Given the description of an element on the screen output the (x, y) to click on. 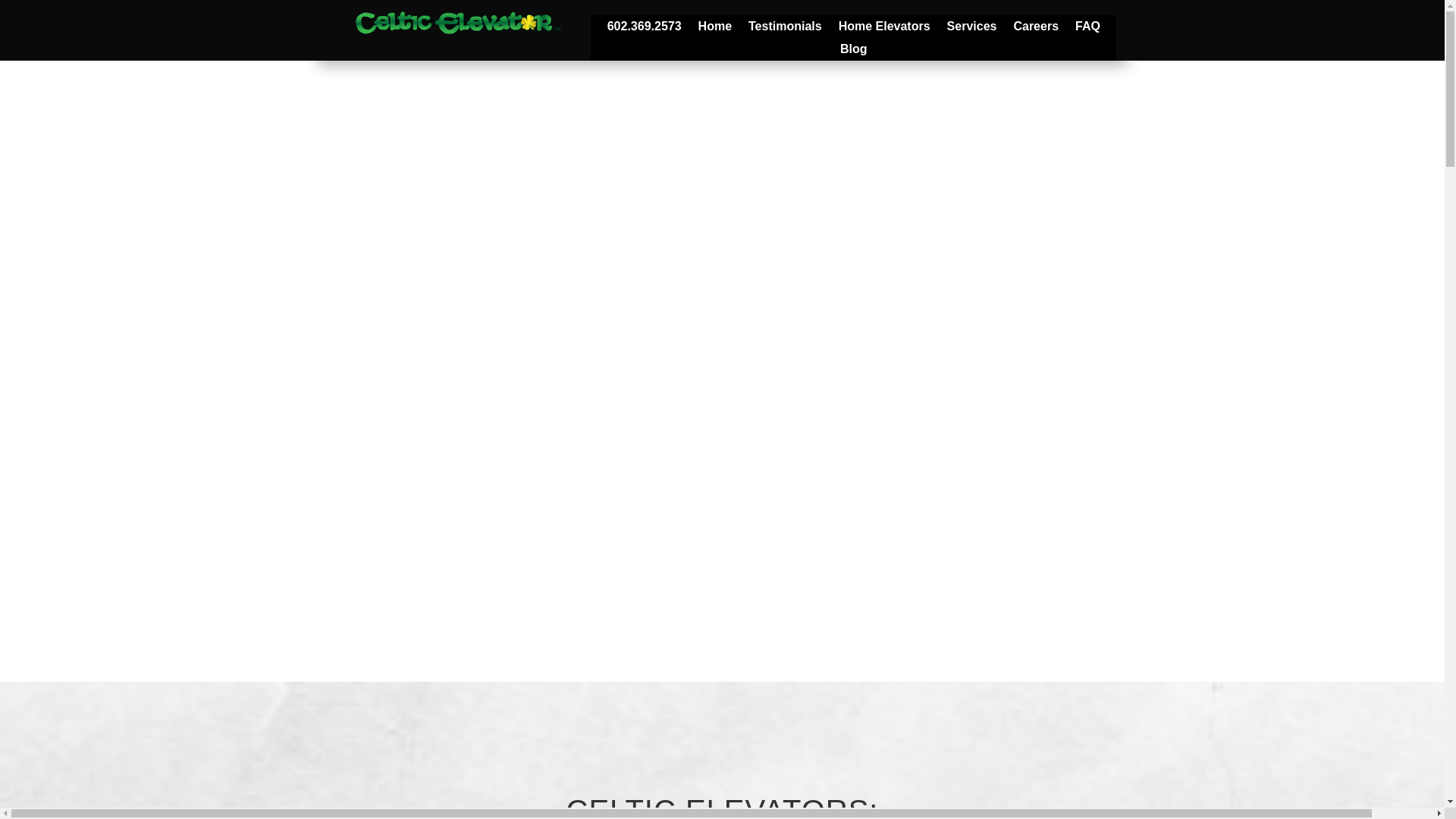
Blog (853, 52)
FAQ (1087, 29)
Home Elevators (884, 29)
Careers (1035, 29)
Testimonials (785, 29)
Home (715, 29)
Services (972, 29)
602.369.2573 (644, 29)
